Given the description of an element on the screen output the (x, y) to click on. 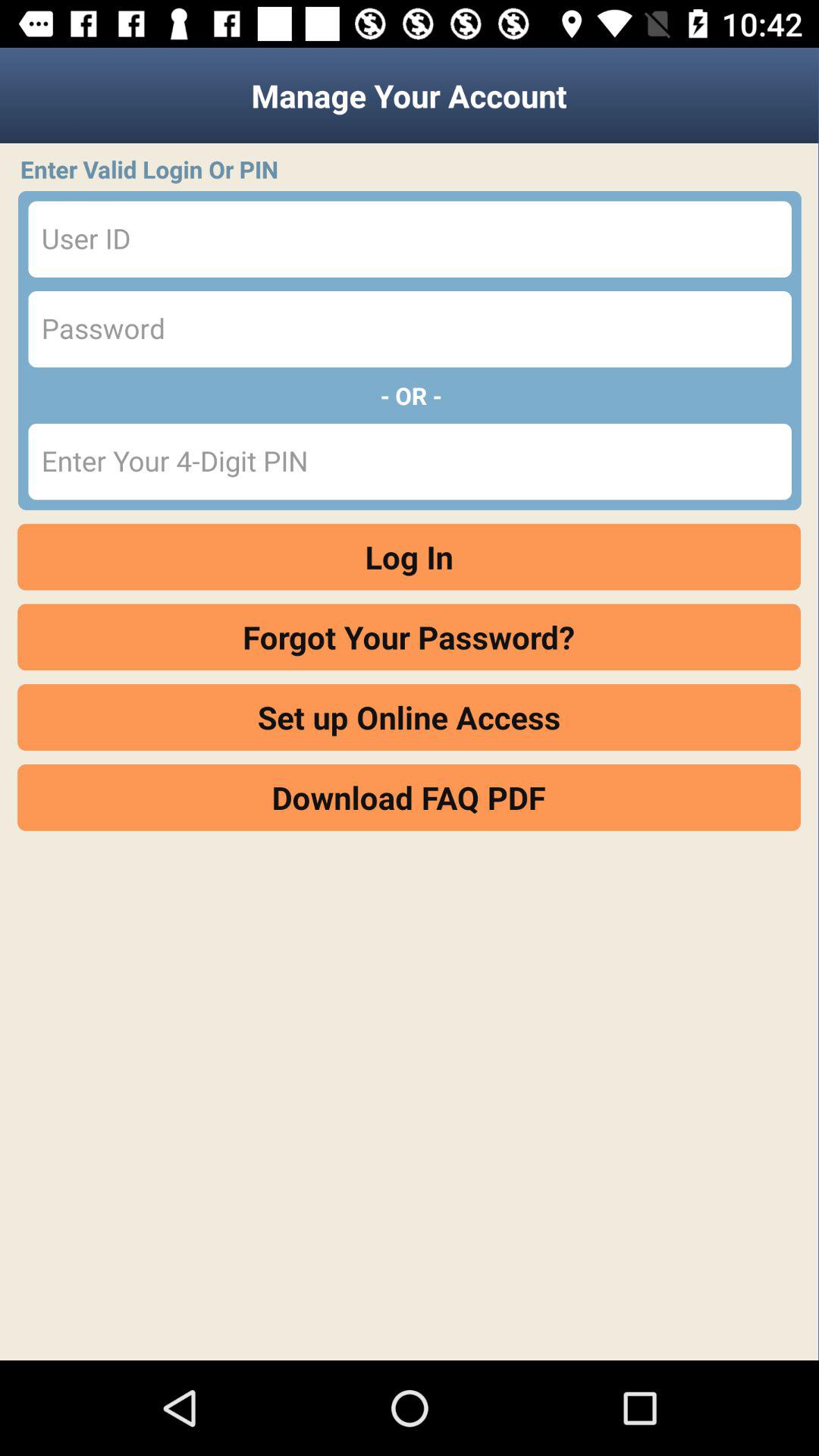
turn on the icon below forgot your password? icon (408, 717)
